Given the description of an element on the screen output the (x, y) to click on. 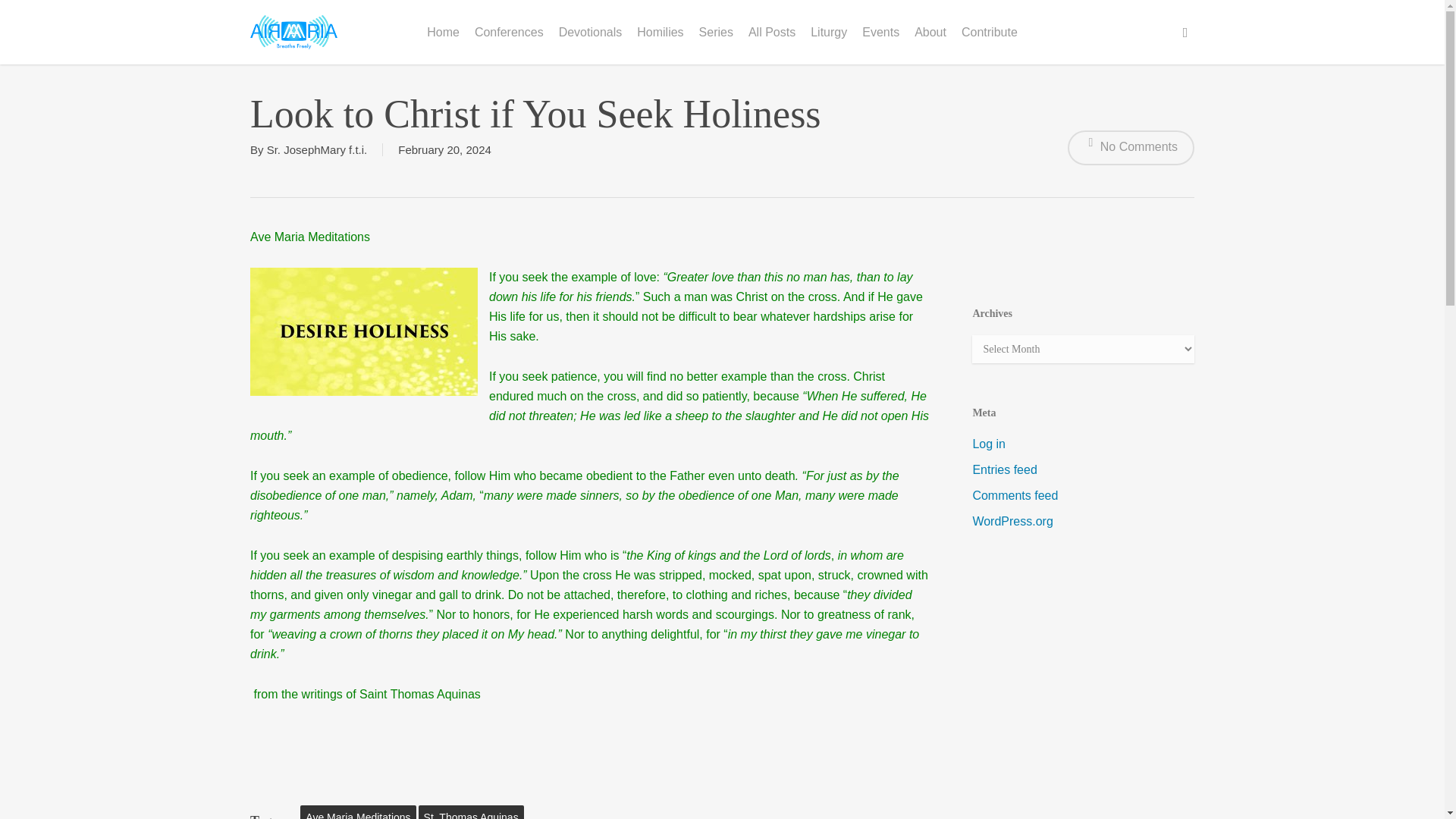
Events (880, 31)
No Comments (1130, 147)
Devotionals (590, 31)
All Posts (772, 31)
Home (443, 31)
search (1184, 31)
Homilies (659, 31)
Conferences (509, 31)
WordPress.org (1082, 521)
St. Thomas Aquinas (471, 812)
